Given the description of an element on the screen output the (x, y) to click on. 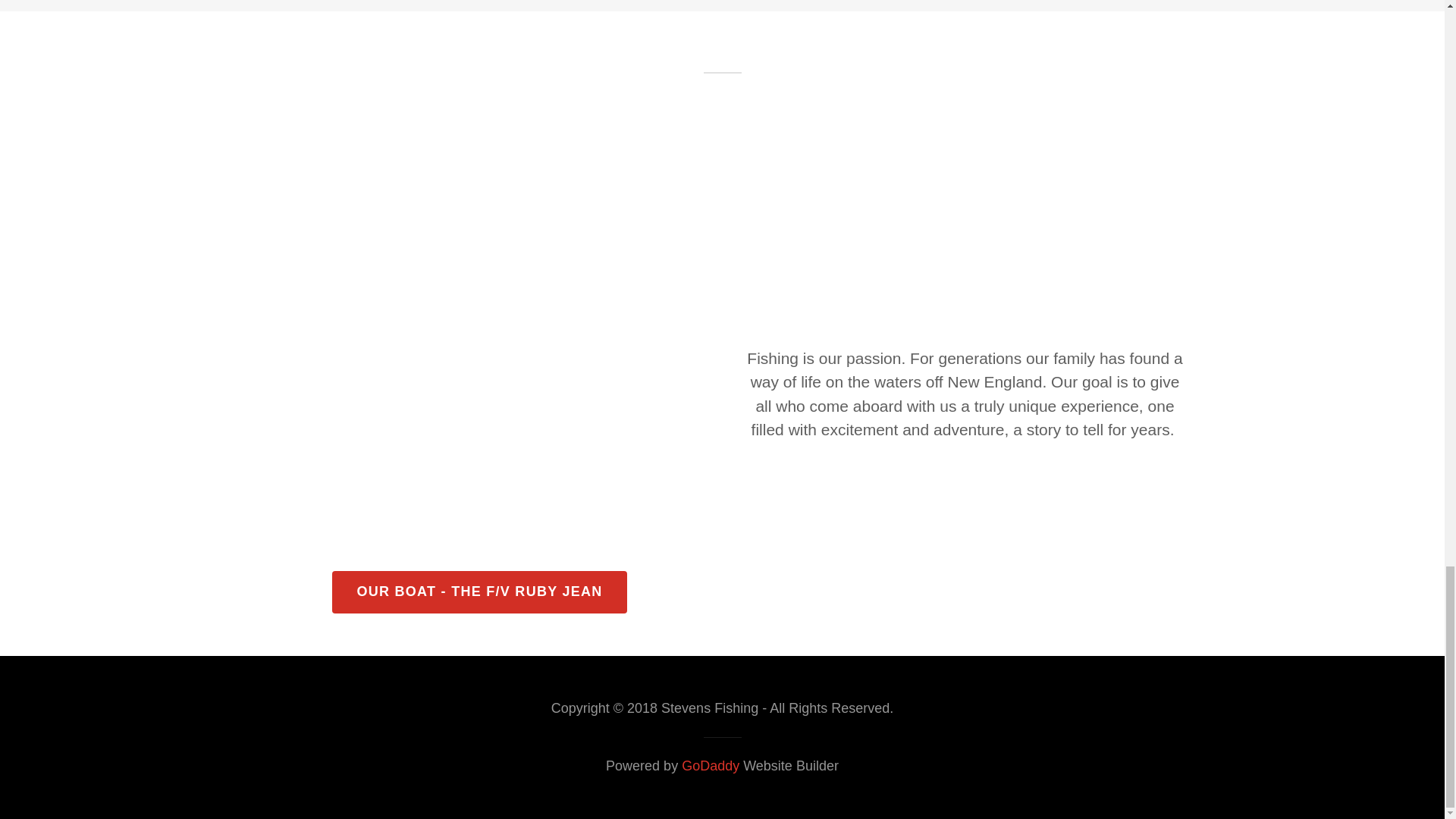
GoDaddy (710, 765)
